Given the description of an element on the screen output the (x, y) to click on. 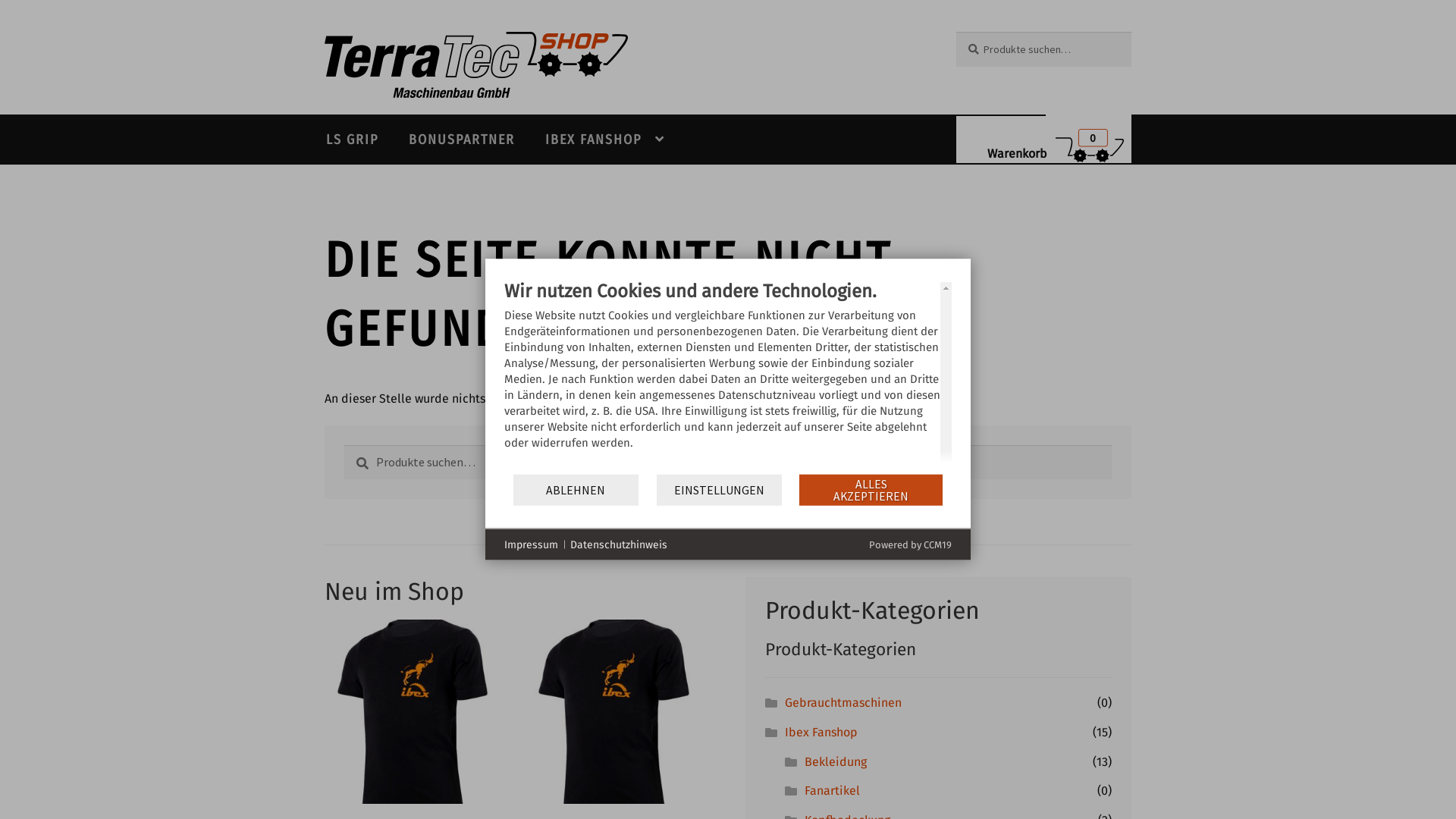
IBEX FANSHOP Element type: text (604, 139)
Powered by CCM19 Element type: text (910, 543)
BONUSPARTNER Element type: text (461, 139)
Suche Element type: text (343, 444)
Gebrauchtmaschinen Element type: text (842, 702)
Ibex Fanshop Element type: text (820, 731)
ALLES AKZEPTIEREN Element type: text (870, 489)
Fanartikel Element type: text (831, 790)
LS GRIP Element type: text (352, 139)
EINSTELLUNGEN Element type: text (718, 489)
Datenschutzhinweis Element type: text (618, 544)
Zur Navigation springen Element type: text (323, 31)
Bekleidung Element type: text (835, 761)
Suche Element type: text (955, 31)
ABLEHNEN Element type: text (575, 489)
Impressum Element type: text (531, 544)
